Given the description of an element on the screen output the (x, y) to click on. 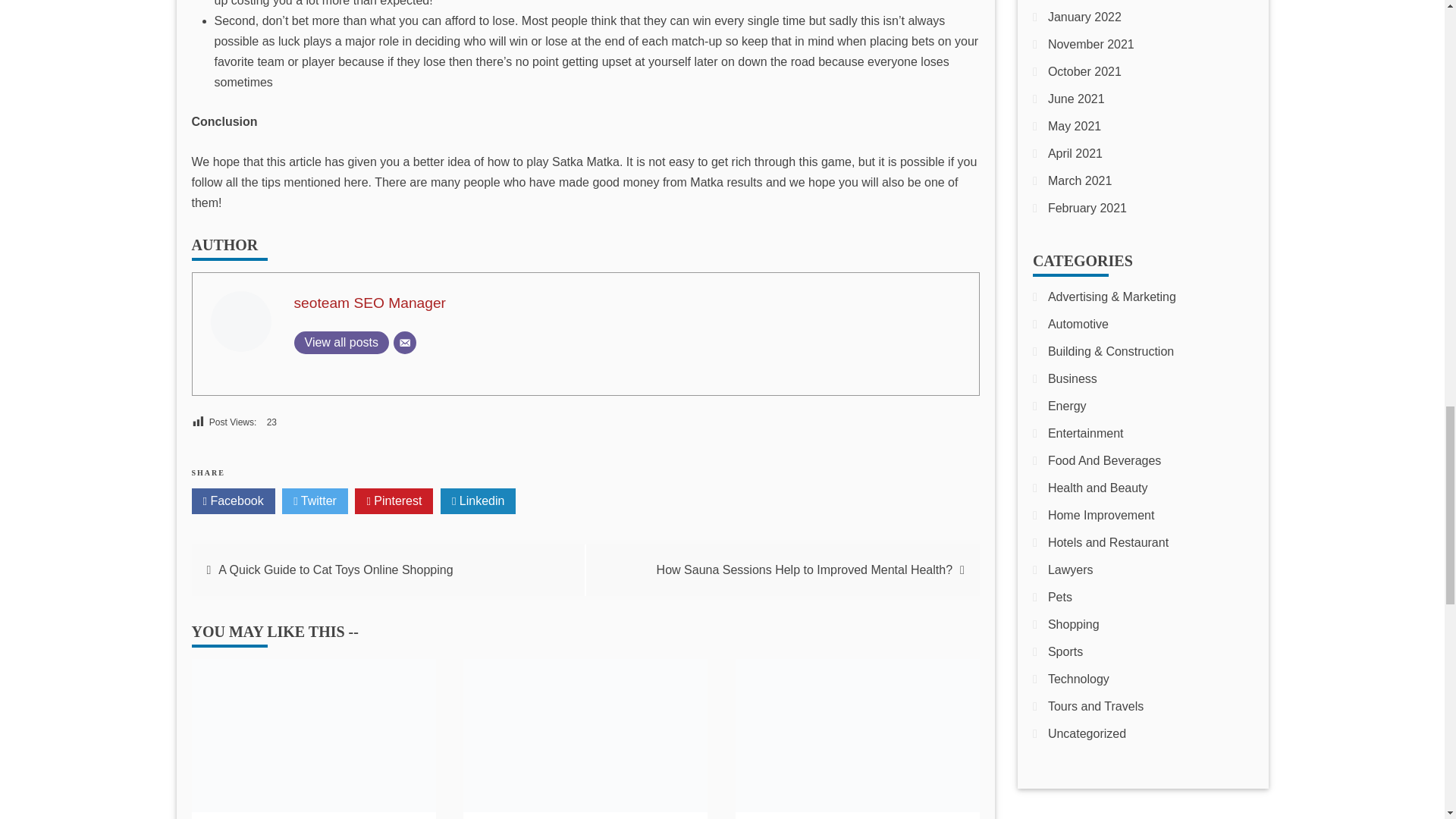
seoteam SEO Manager (370, 302)
View all posts (342, 342)
Pinterest (393, 501)
How Sauna Sessions Help to Improved Mental Health? (804, 569)
A Quick Guide to Cat Toys Online Shopping (335, 569)
Twitter (314, 501)
View all posts (342, 342)
Linkedin (478, 501)
seoteam SEO Manager (370, 302)
Facebook (232, 501)
